Given the description of an element on the screen output the (x, y) to click on. 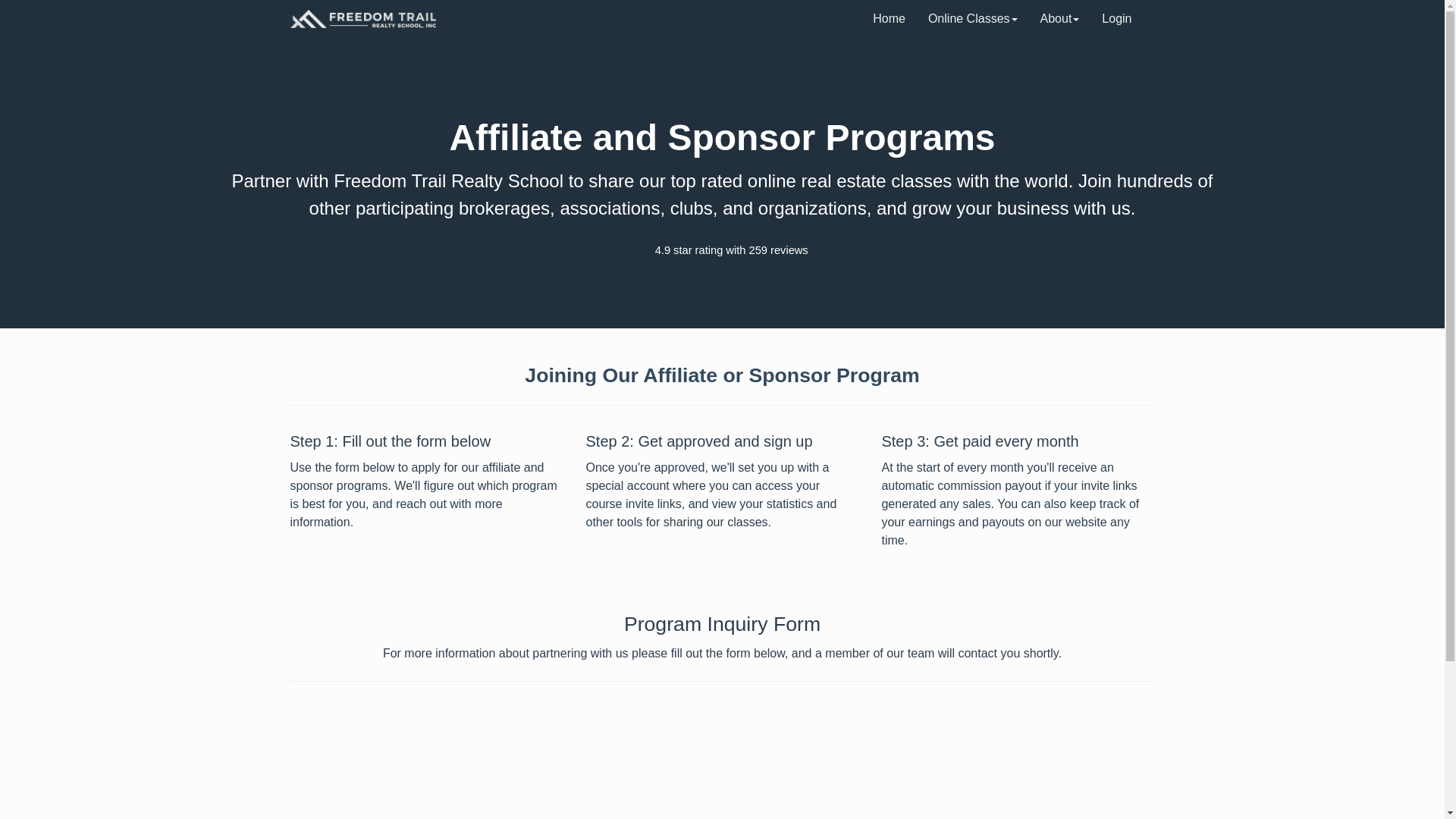
Freedom Trail Realty School, Inc. (362, 18)
     4.9 star rating with 259 reviews (721, 250)
Online Classes (973, 18)
Online Classes Dropdown Toggle (973, 18)
About Dropdown Toggle (1059, 18)
Home (889, 18)
Go Home (362, 18)
Login (1116, 18)
About (1059, 18)
Go Home (889, 18)
Login to your account (1116, 18)
